Given the description of an element on the screen output the (x, y) to click on. 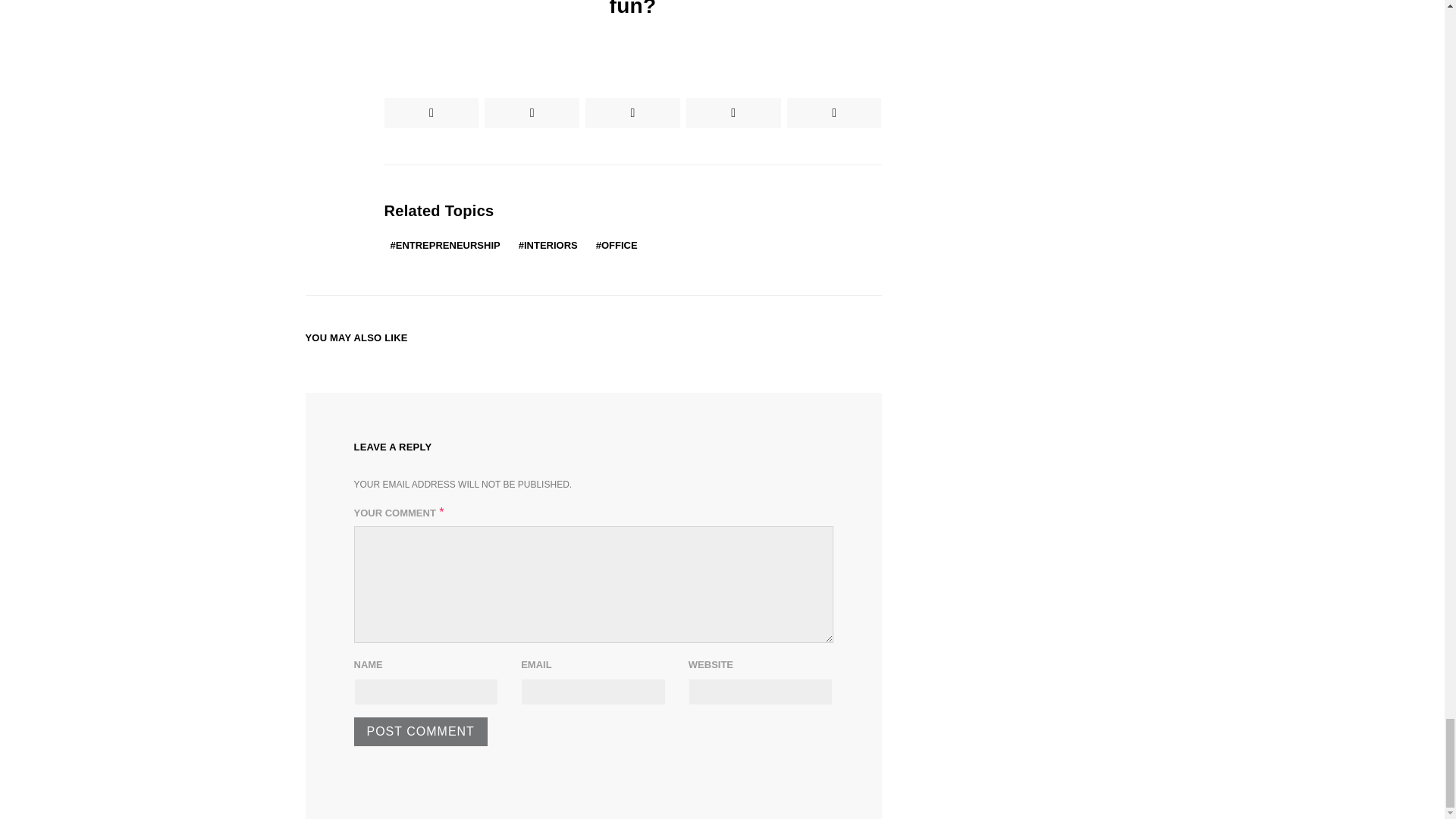
Post Comment (419, 731)
